Given the description of an element on the screen output the (x, y) to click on. 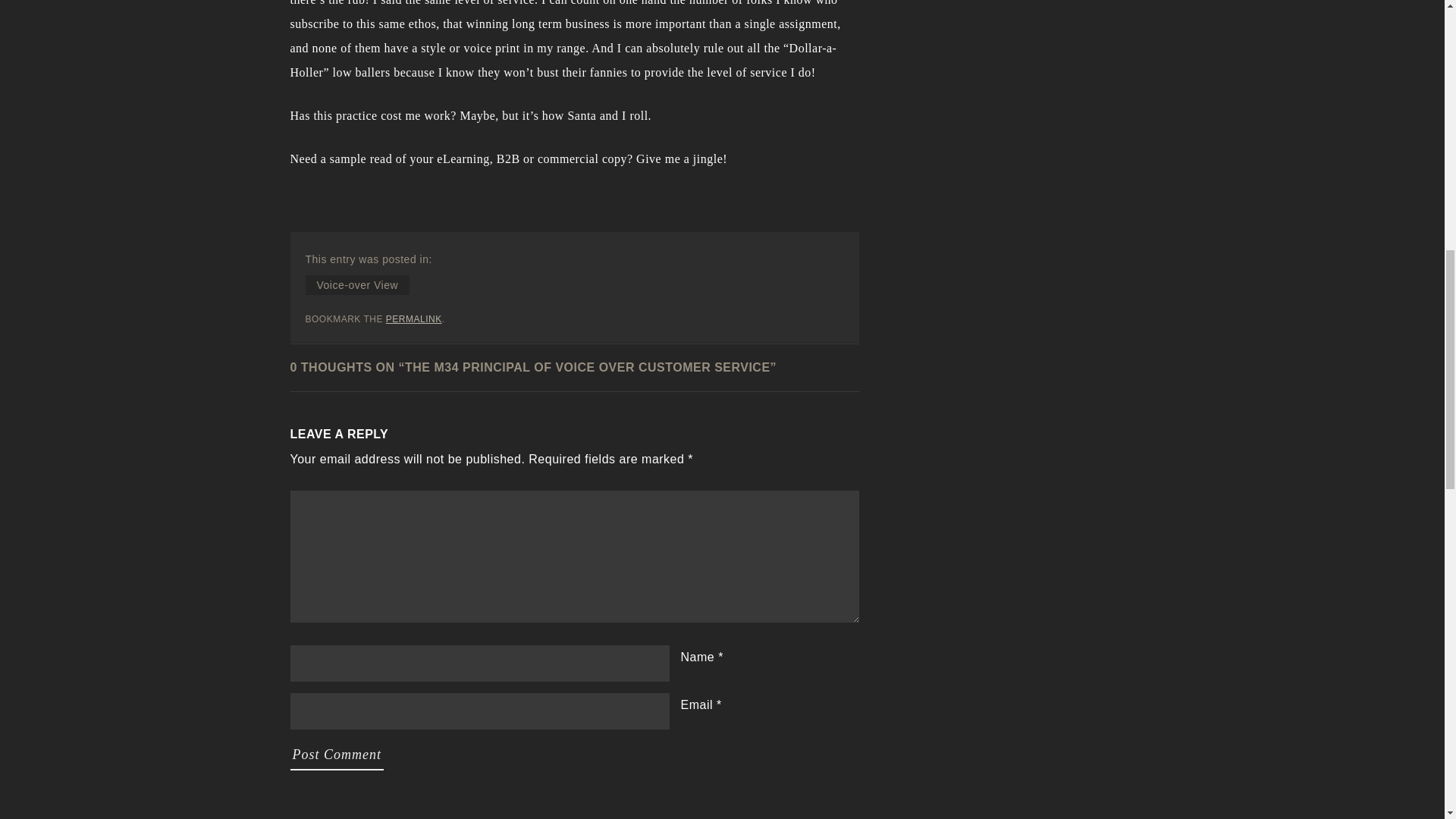
Post Comment (336, 755)
Voice-over View (356, 284)
Post Comment (336, 755)
PERMALINK (413, 318)
